Given the description of an element on the screen output the (x, y) to click on. 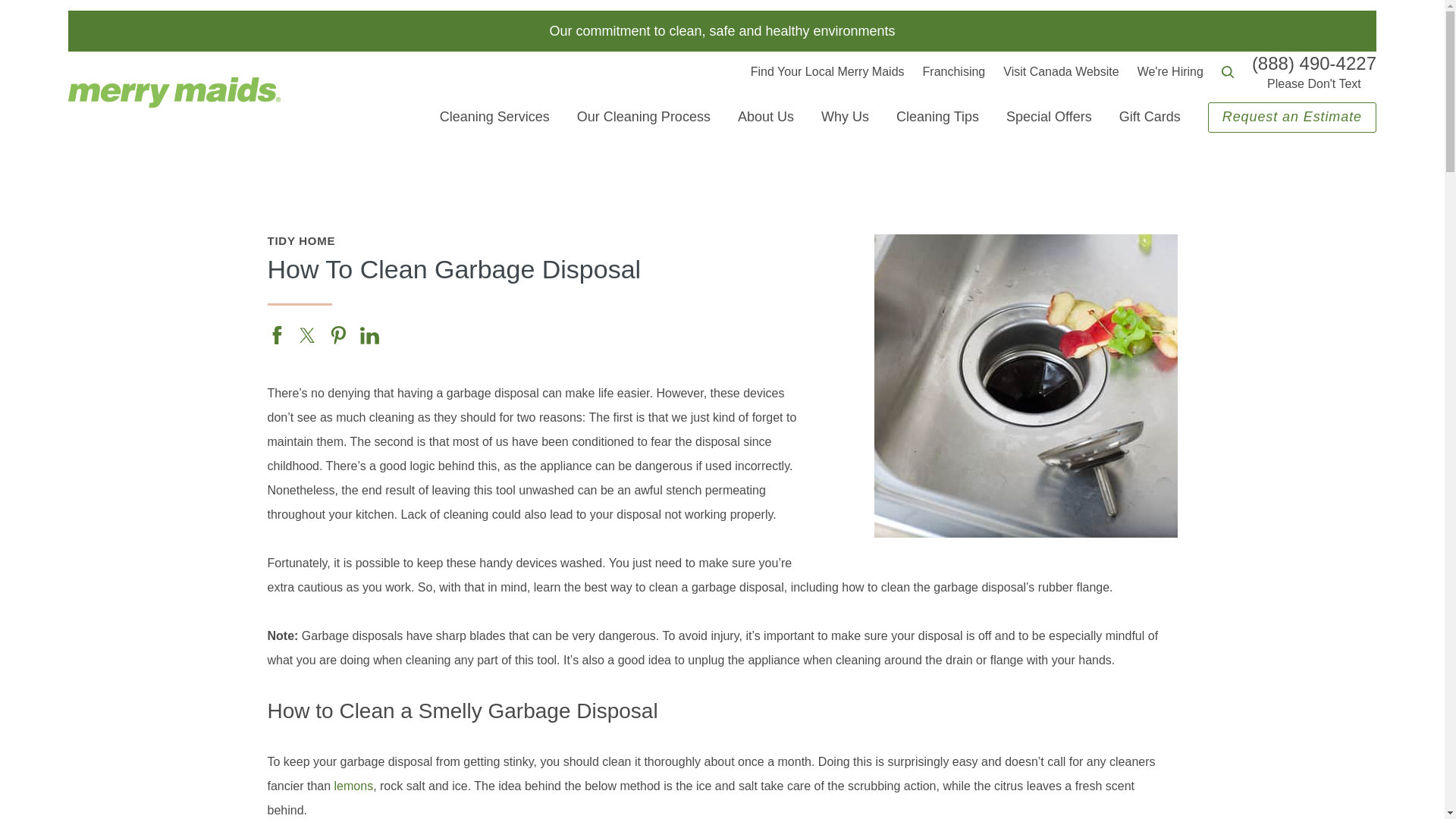
Find Your Local Merry Maids (827, 71)
We're Hiring (1170, 71)
Our Cleaning Process (643, 117)
About Us (765, 117)
Cleaning Services (494, 117)
Franchising (954, 71)
Our commitment to clean, safe and healthy environments (721, 30)
Why Us (845, 117)
Merry Maids (174, 91)
Visit Canada Website (1060, 71)
